Given the description of an element on the screen output the (x, y) to click on. 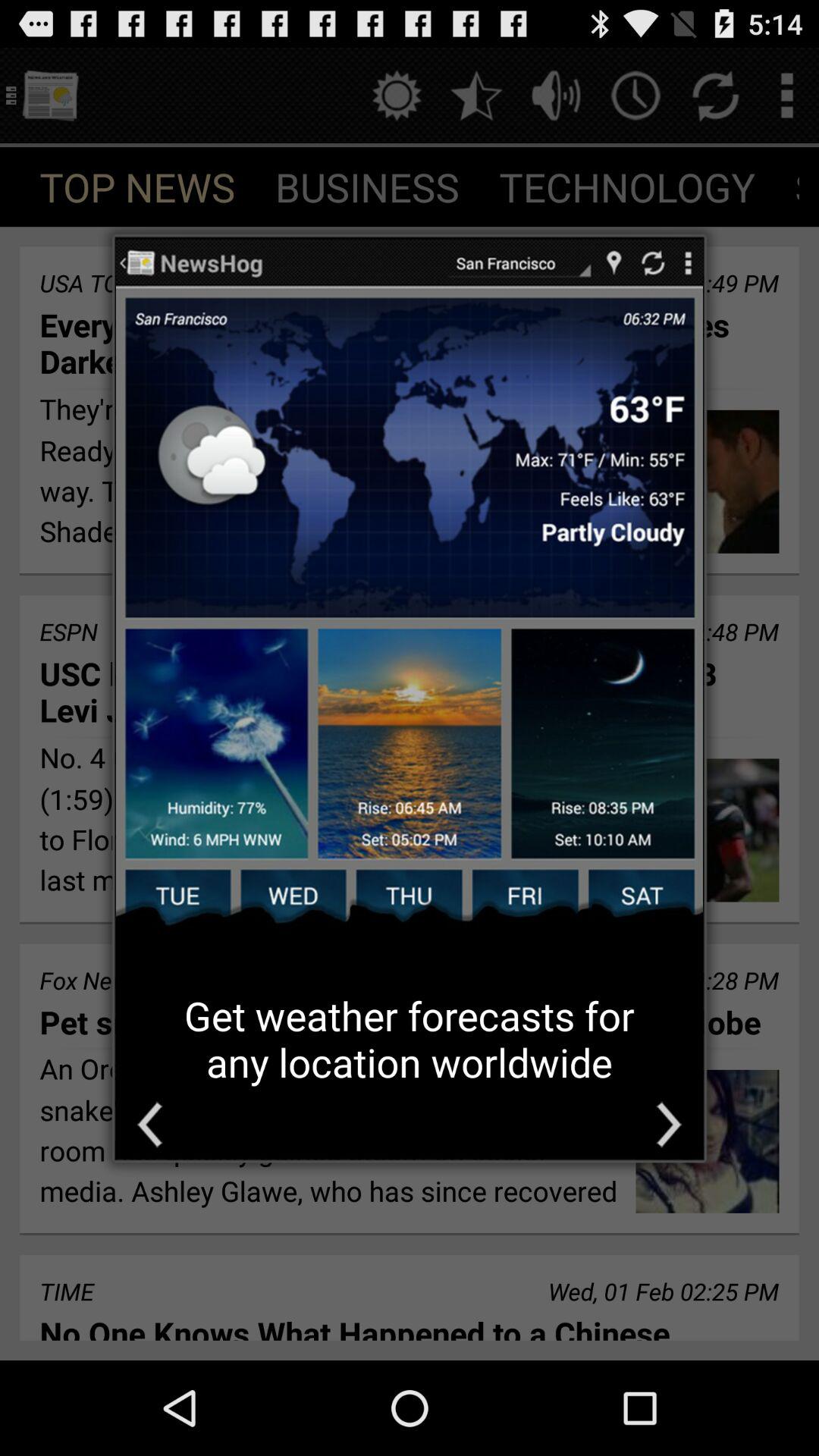
go to previous (149, 1124)
